Given the description of an element on the screen output the (x, y) to click on. 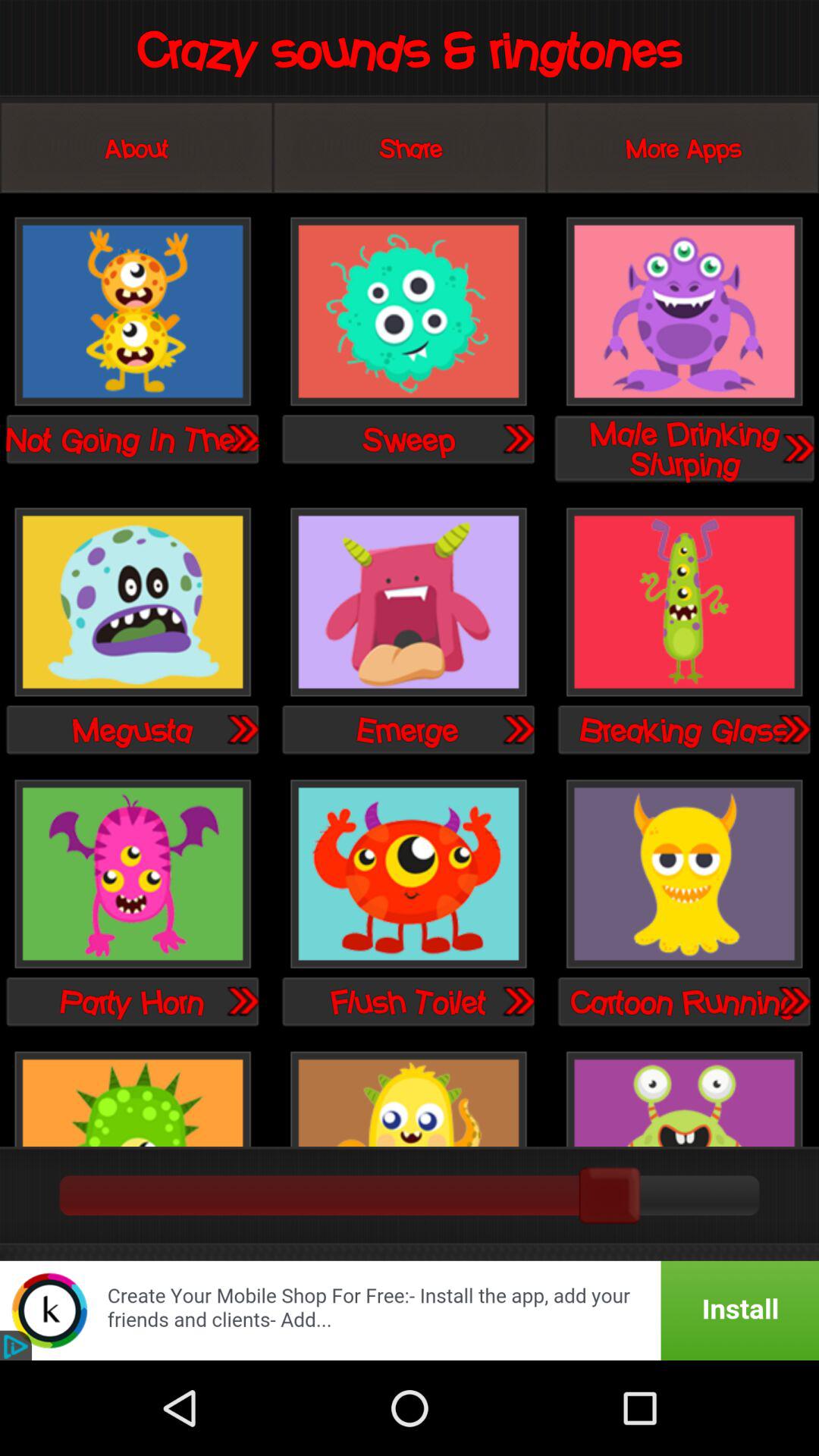
forward option (518, 438)
